Given the description of an element on the screen output the (x, y) to click on. 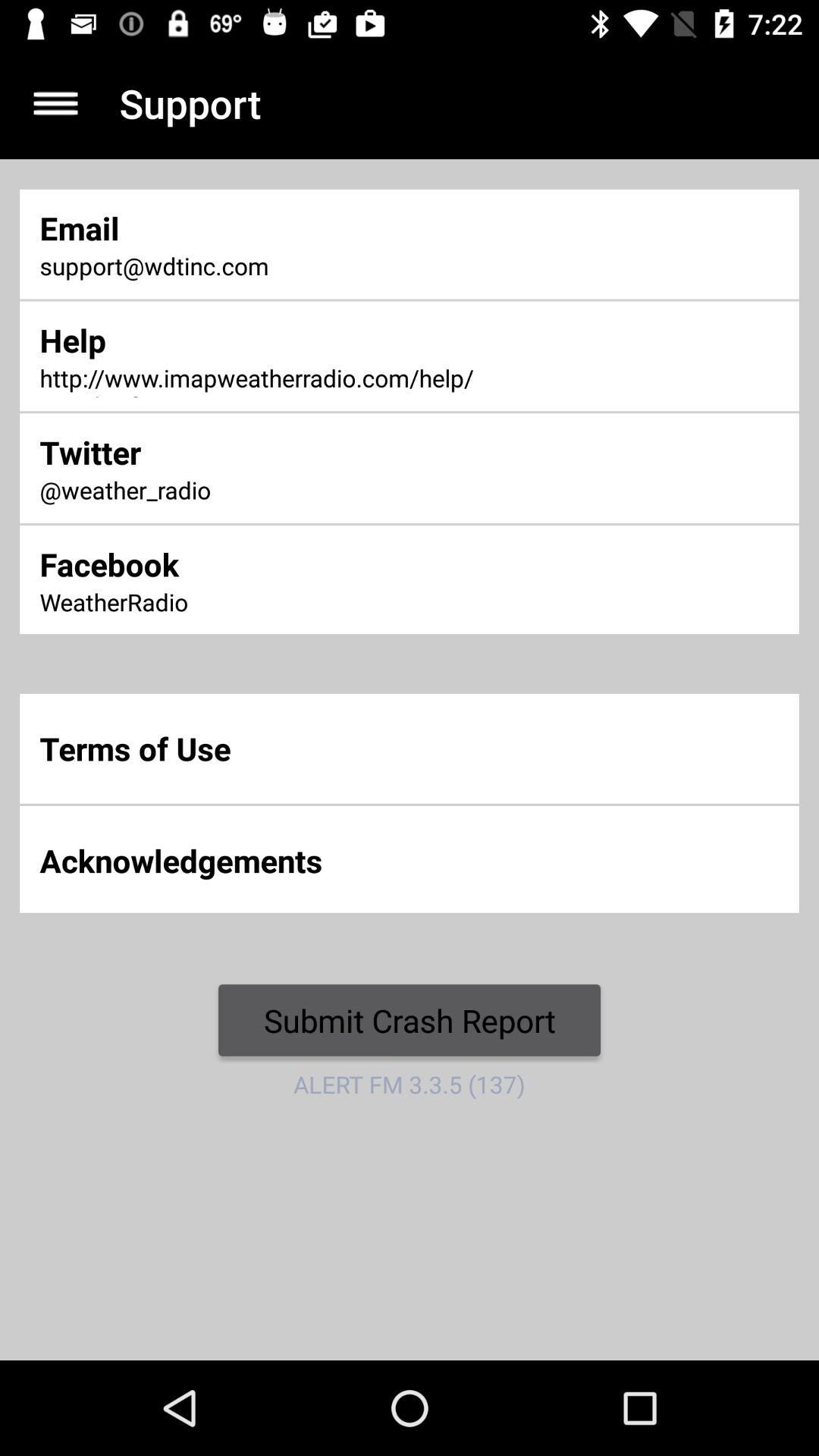
scroll until @weather_radio (270, 491)
